Given the description of an element on the screen output the (x, y) to click on. 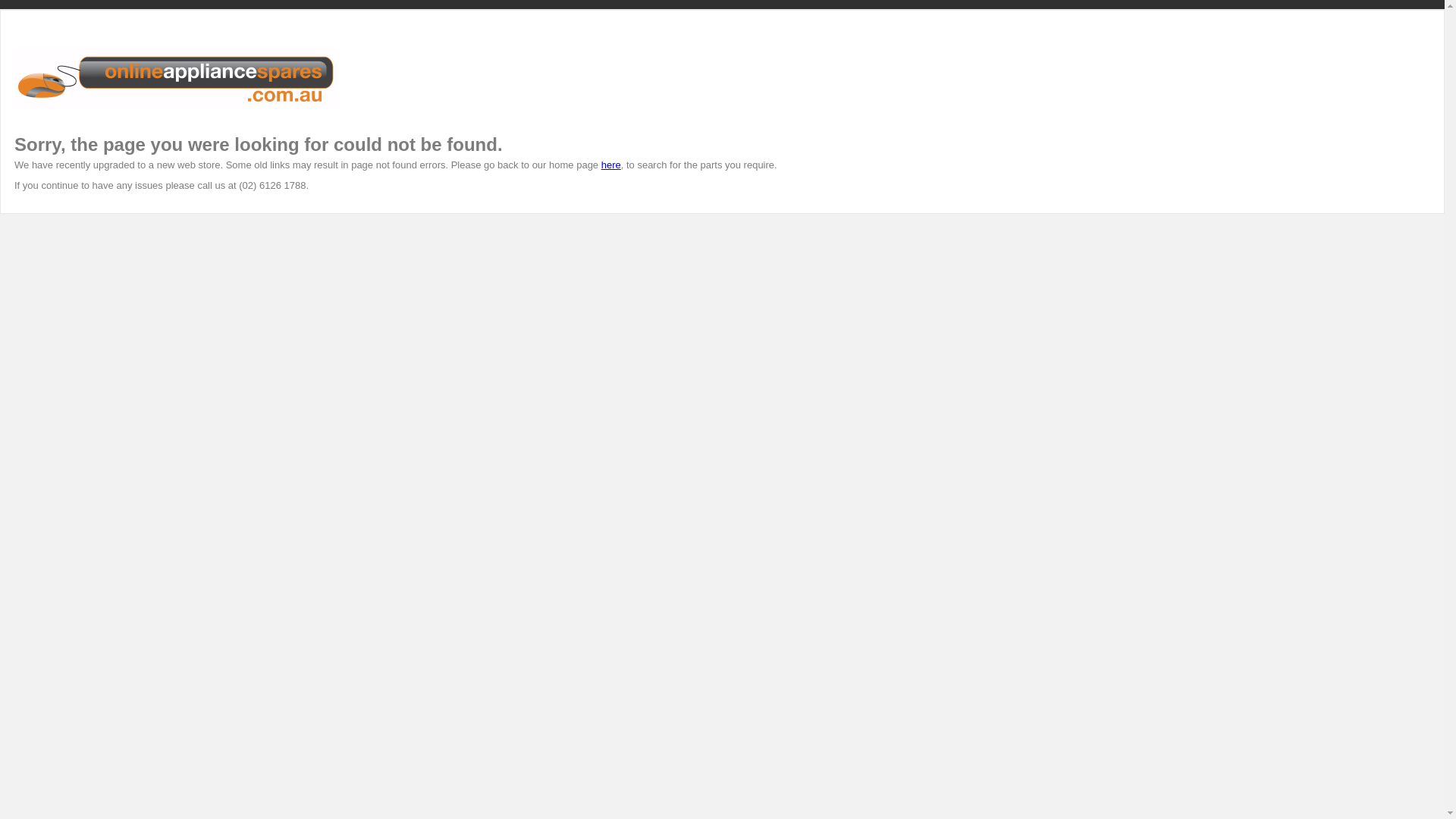
here Element type: text (611, 164)
